Given the description of an element on the screen output the (x, y) to click on. 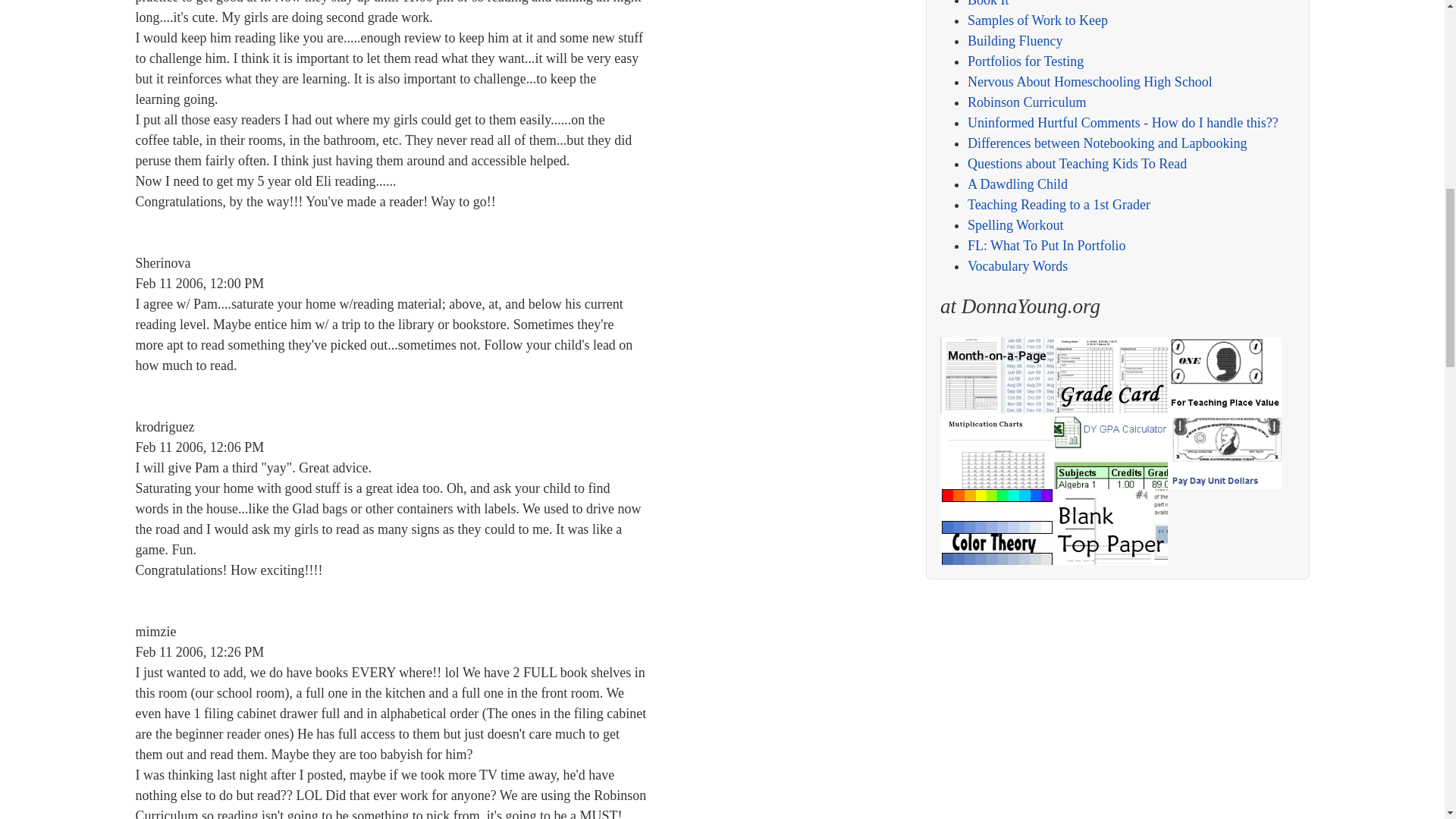
Book It (988, 3)
Nervous About Homeschooling High School (1090, 81)
Building Fluency (1015, 40)
Robinson Curriculum (1027, 102)
A Dawdling Child (1017, 183)
Questions about Teaching Kids To Read (1077, 163)
Portfolios for Testing (1025, 61)
Uninformed Hurtful Comments - How do I handle this?? (1123, 122)
Differences between Notebooking and Lapbooking (1107, 142)
Samples of Work to Keep (1038, 20)
